Given the description of an element on the screen output the (x, y) to click on. 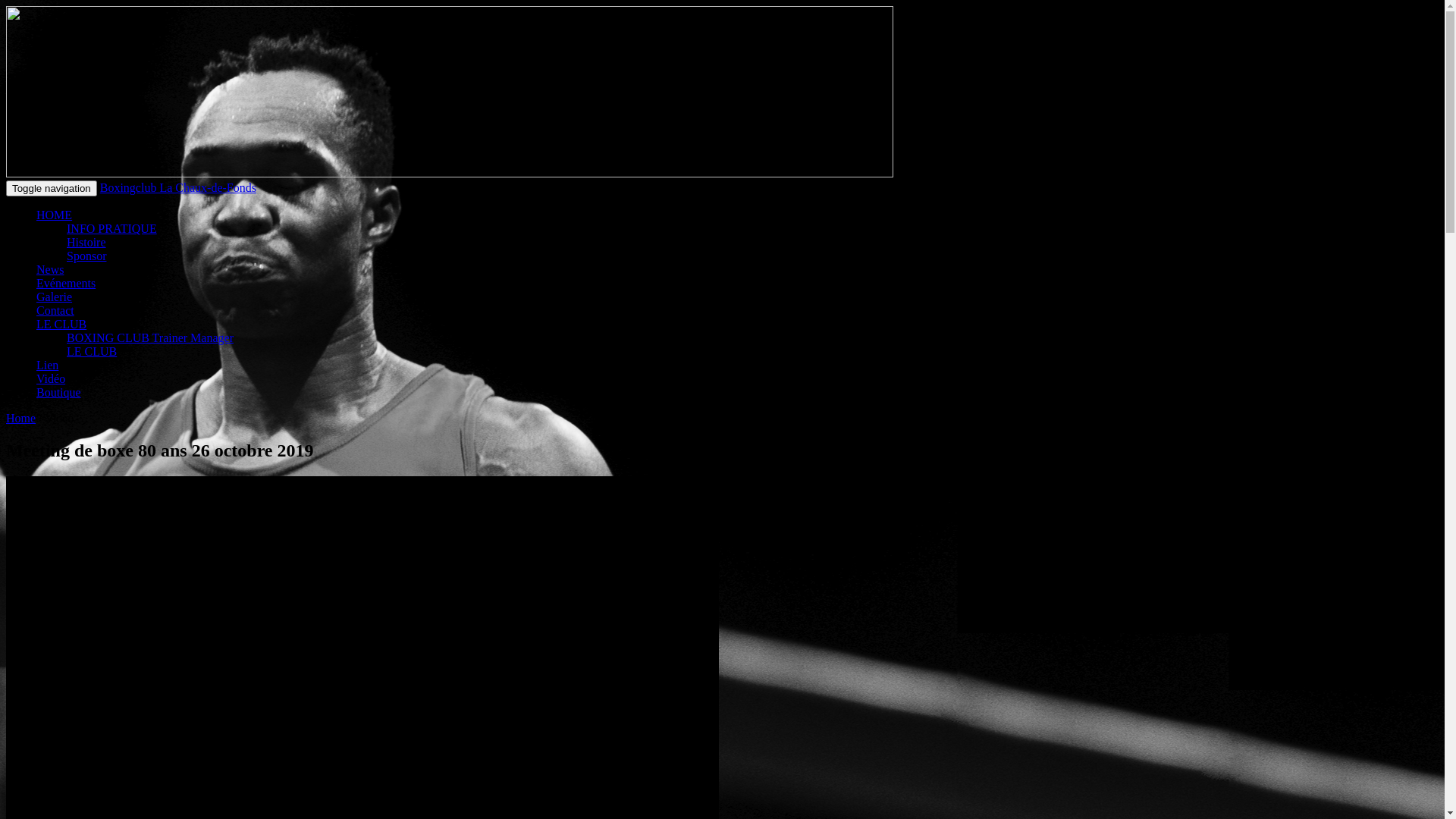
HOME Element type: text (54, 214)
Histoire Element type: text (86, 241)
Contact Element type: text (55, 310)
Lien Element type: text (47, 364)
Boxingclub La Chaux-de-Fonds Element type: text (84, 24)
Galerie Element type: text (54, 296)
Home Element type: text (20, 417)
Sponsor Element type: text (86, 255)
LE CLUB Element type: text (61, 323)
Toggle navigation Element type: text (51, 188)
INFO PRATIQUE Element type: text (111, 228)
Boutique Element type: text (58, 391)
News Element type: text (49, 269)
Boxingclub La Chaux-de-Fonds Element type: text (178, 187)
BOXING CLUB Trainer Manager Element type: text (149, 337)
LE CLUB Element type: text (91, 351)
